Given the description of an element on the screen output the (x, y) to click on. 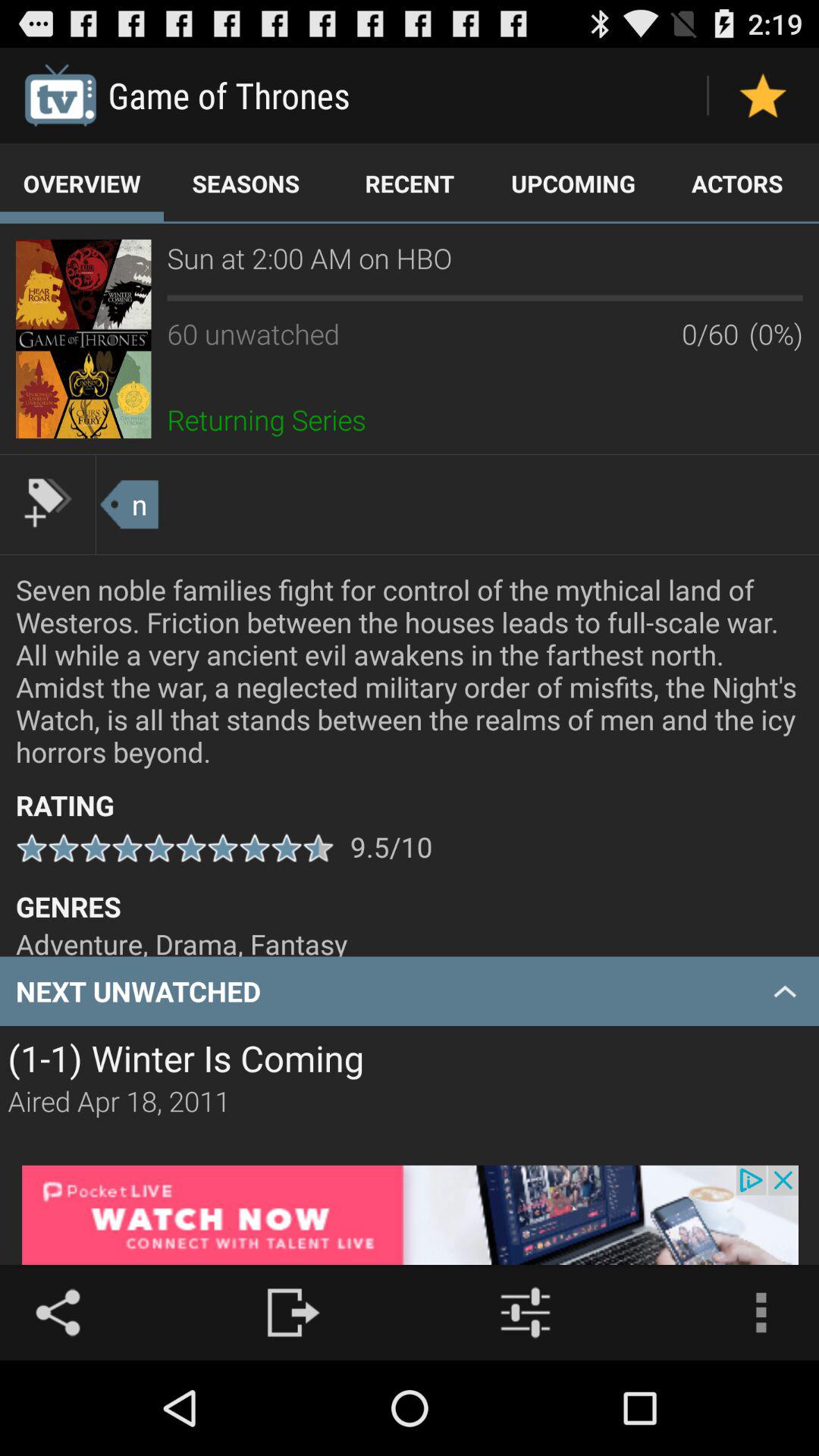
favorite (763, 95)
